Given the description of an element on the screen output the (x, y) to click on. 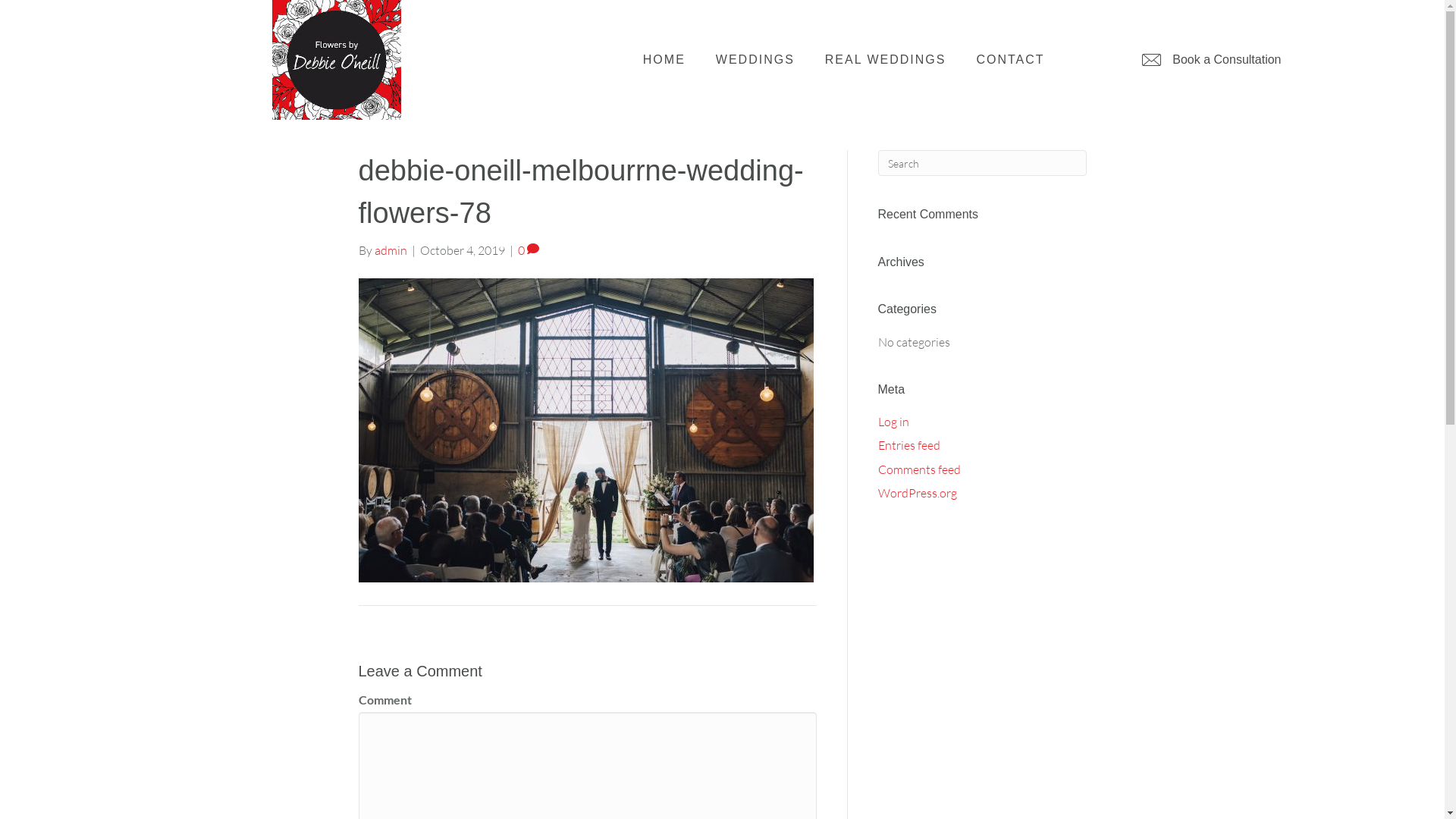
Comments feed Element type: text (919, 468)
Debbie O Niell Element type: hover (336, 59)
REAL WEDDINGS Element type: text (885, 59)
Type and press Enter to search. Element type: hover (982, 162)
Log in Element type: text (893, 421)
0 Element type: text (527, 249)
CONTACT Element type: text (1009, 59)
admin Element type: text (390, 249)
WordPress.org Element type: text (917, 492)
Entries feed Element type: text (909, 444)
HOME Element type: text (664, 59)
Book a Consultation Element type: text (1210, 59)
WEDDINGS Element type: text (755, 59)
